Given the description of an element on the screen output the (x, y) to click on. 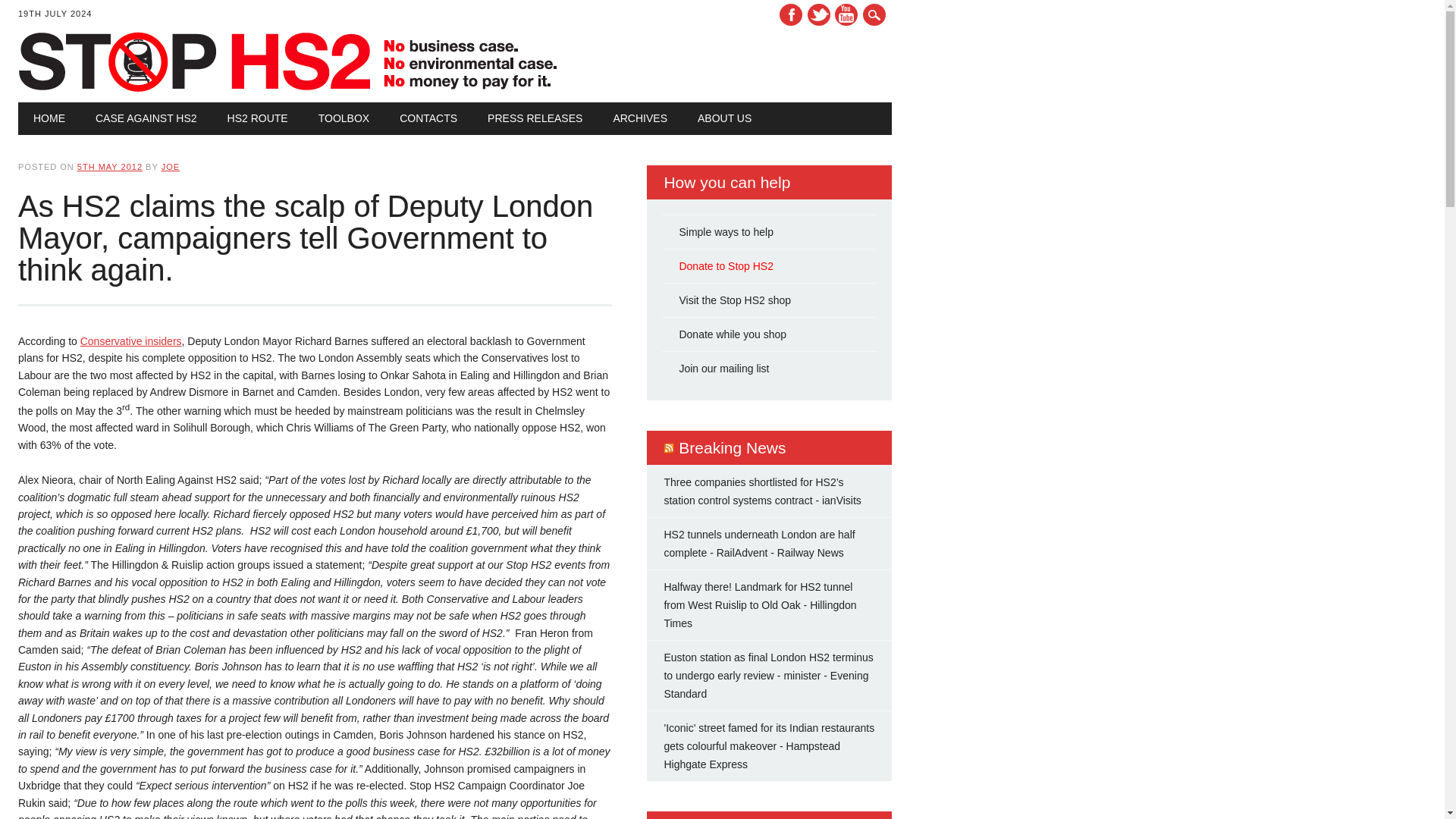
Simple ways to help (725, 232)
5TH MAY 2012 (109, 166)
TOOLBOX (343, 118)
11:18 am (109, 166)
Donate to Stop HS2 (725, 265)
PRESS RELEASES (533, 118)
Join our mailing list (723, 368)
CONTACTS (427, 118)
Facebook (790, 14)
Visit the Stop HS2 shop (734, 300)
View all posts by Joe (170, 166)
HS2 ROUTE (257, 118)
Breaking News (732, 447)
Twitter (818, 14)
Donate while you shop (732, 334)
